Given the description of an element on the screen output the (x, y) to click on. 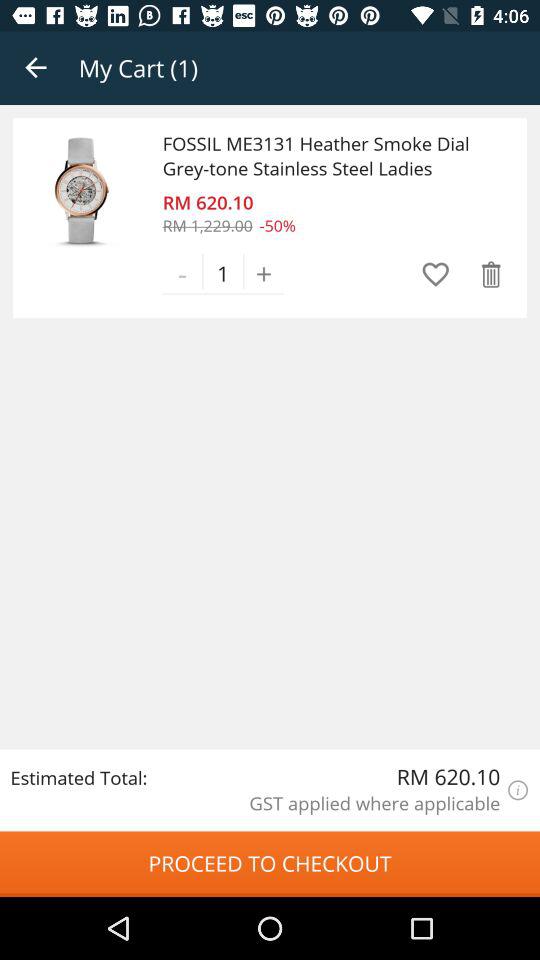
jump to the fossil me3131 heather item (327, 155)
